Given the description of an element on the screen output the (x, y) to click on. 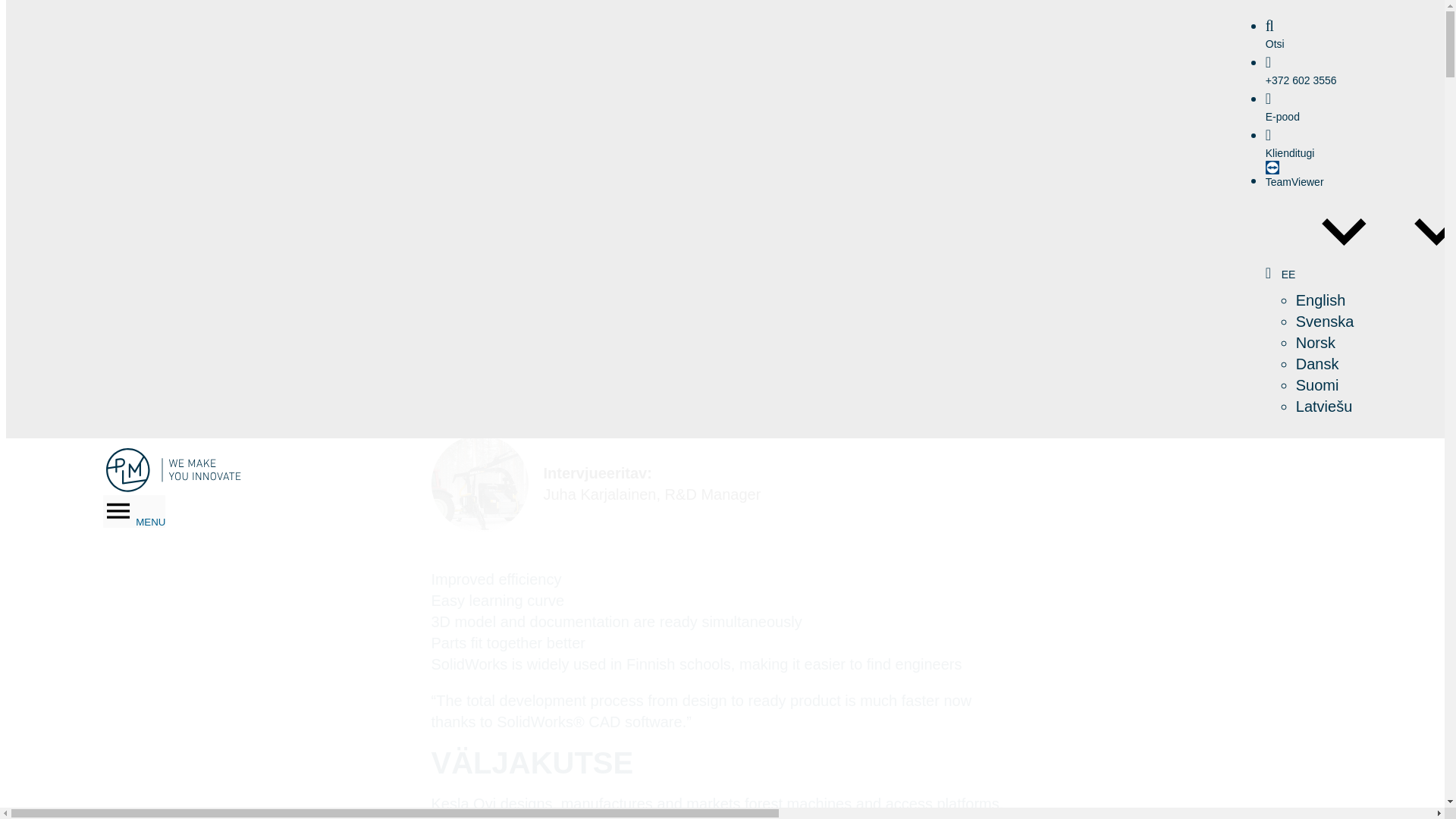
Norsk (1315, 342)
Suomi (1317, 384)
Otsi (1309, 34)
E-pood (1309, 107)
TeamViewer (1309, 174)
MENU (134, 511)
Klienditugi (1309, 143)
Dansk (1317, 363)
English (1320, 299)
Svenska (1324, 321)
